Given the description of an element on the screen output the (x, y) to click on. 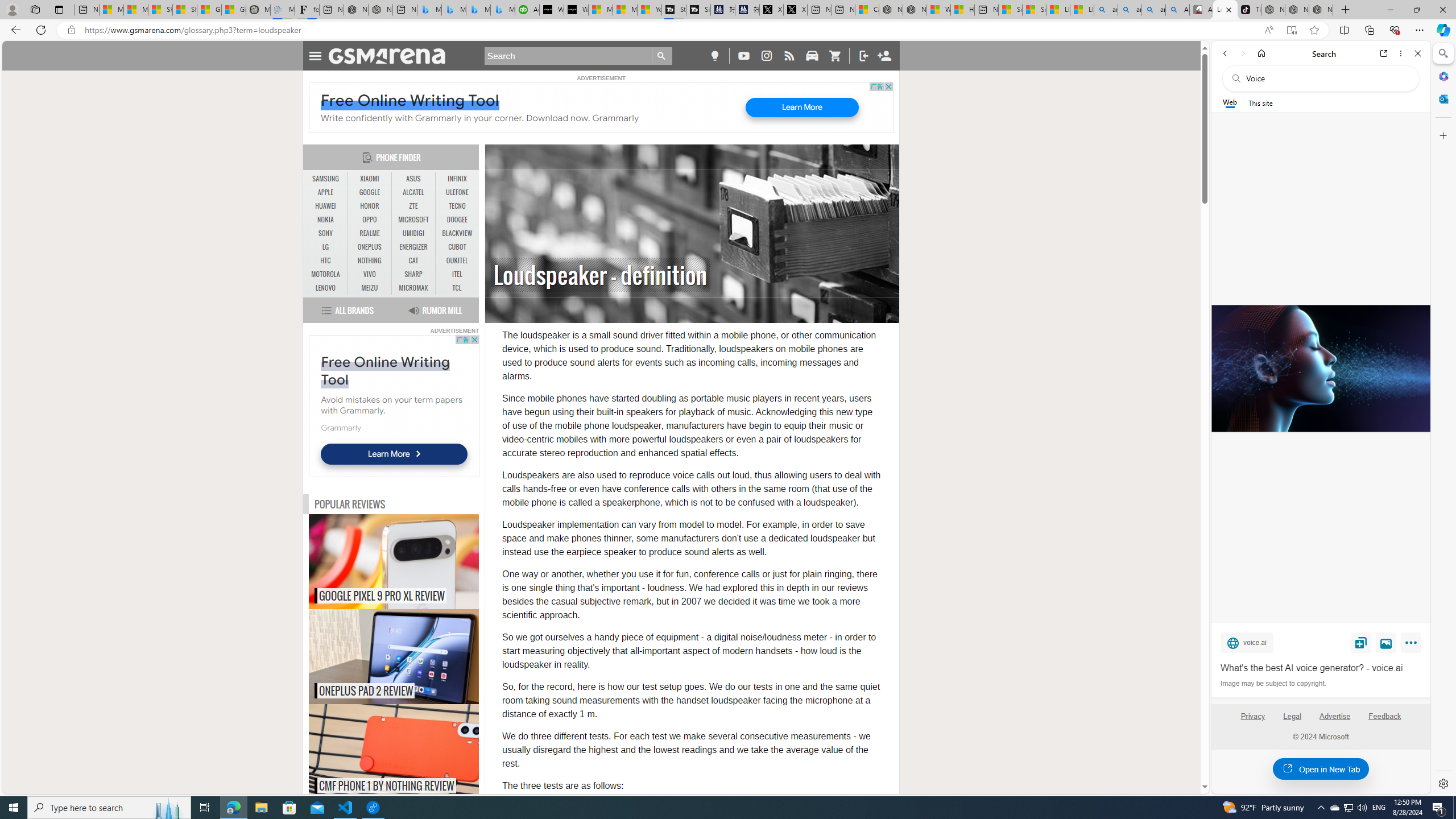
Accounting Software for Accountants, CPAs and Bookkeepers (526, 9)
UMIDIGI (413, 233)
MICROMAX (413, 287)
ZTE (413, 205)
TCL (457, 287)
XIAOMI (369, 178)
ALCATEL (413, 192)
XIAOMI (369, 178)
